Given the description of an element on the screen output the (x, y) to click on. 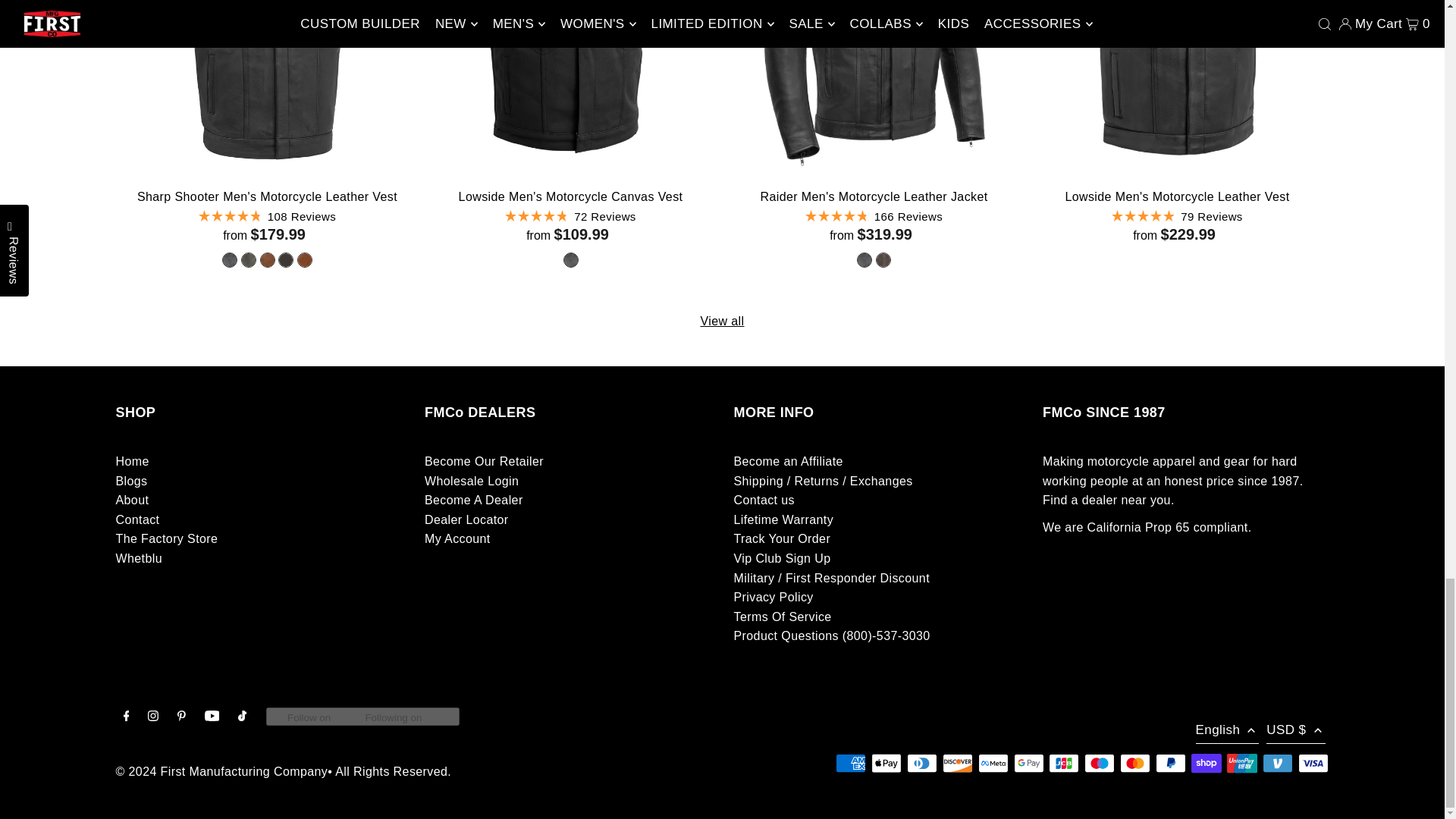
Sharp Shooter Men's Motorcycle Leather Vest (266, 89)
